Given the description of an element on the screen output the (x, y) to click on. 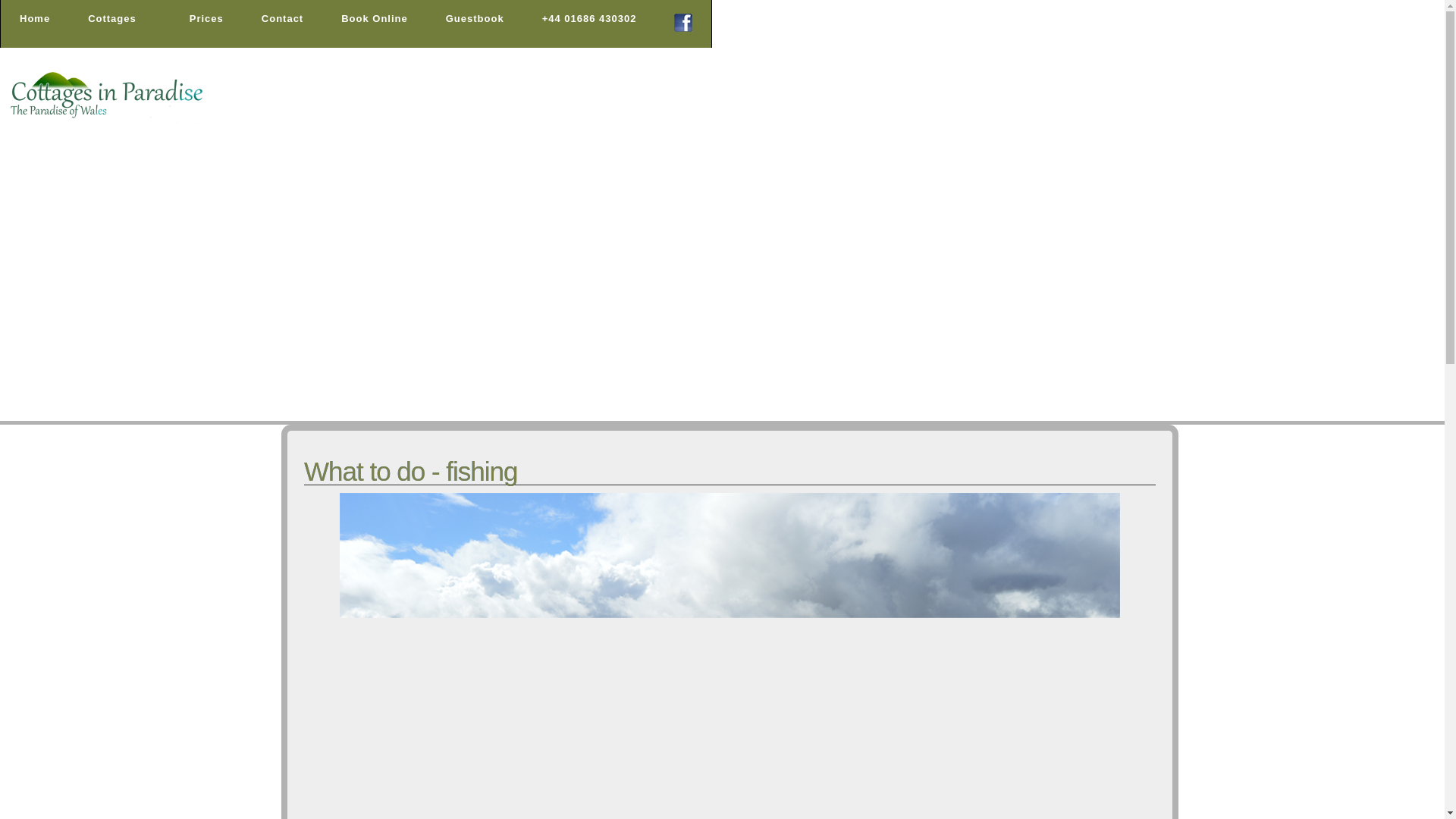
Guestbook (474, 23)
Connect with Cottages in Paradise on FaceBook (683, 22)
Contact (282, 23)
Book Online (373, 23)
Prices (206, 23)
Guestbook (474, 23)
FaceBook (683, 27)
Home (34, 23)
Telephone Cottages in Paradise (589, 23)
Home (34, 23)
